Given the description of an element on the screen output the (x, y) to click on. 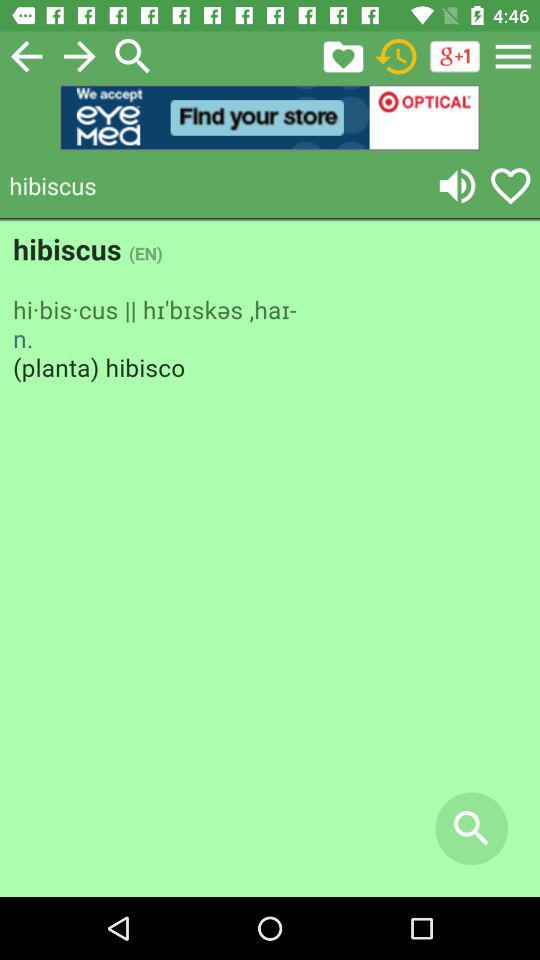
go to next page (79, 56)
